Given the description of an element on the screen output the (x, y) to click on. 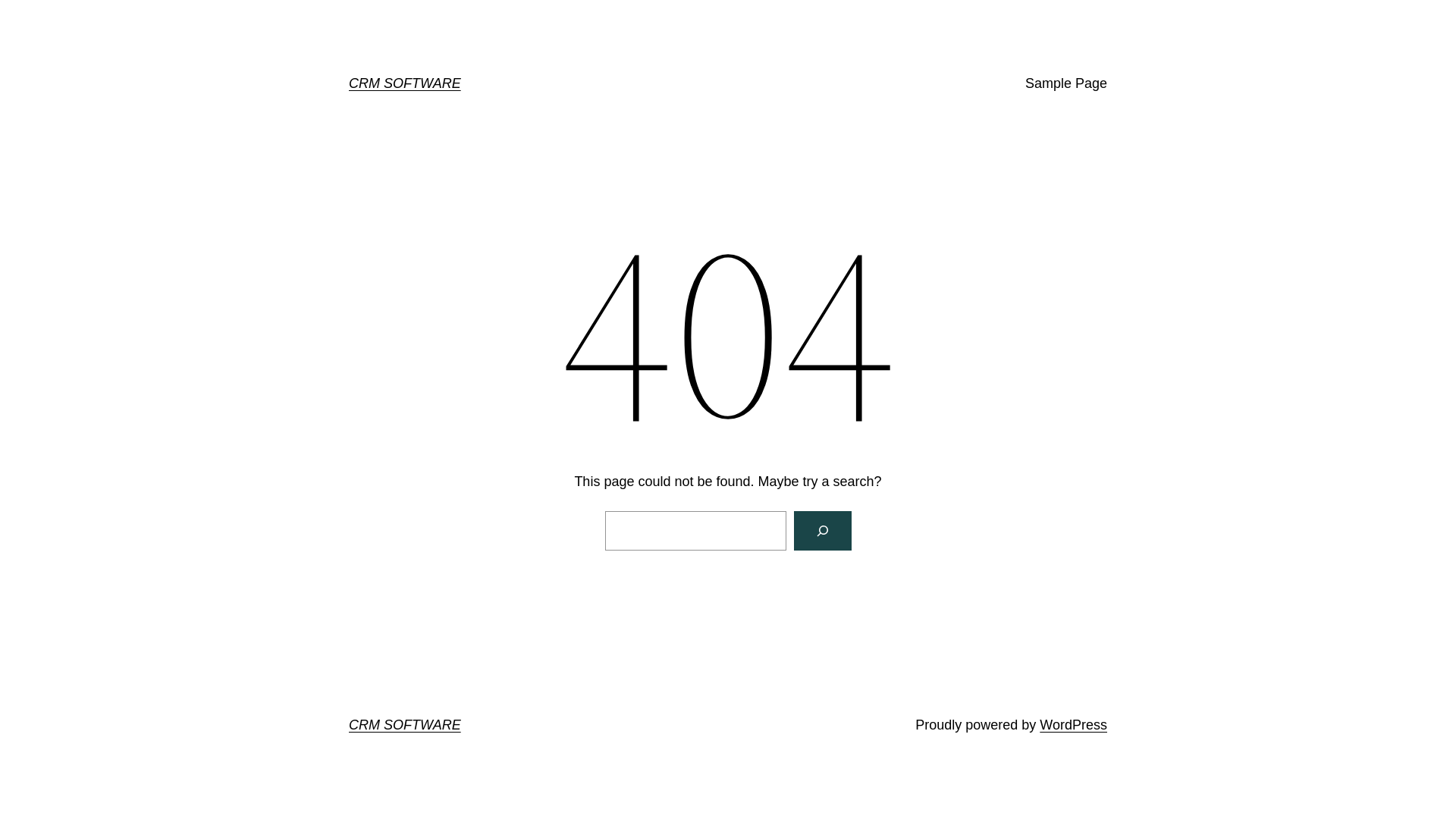
CRM SOFTWARE Element type: text (404, 724)
CRM SOFTWARE Element type: text (404, 83)
WordPress Element type: text (1073, 724)
Sample Page Element type: text (1066, 83)
